Given the description of an element on the screen output the (x, y) to click on. 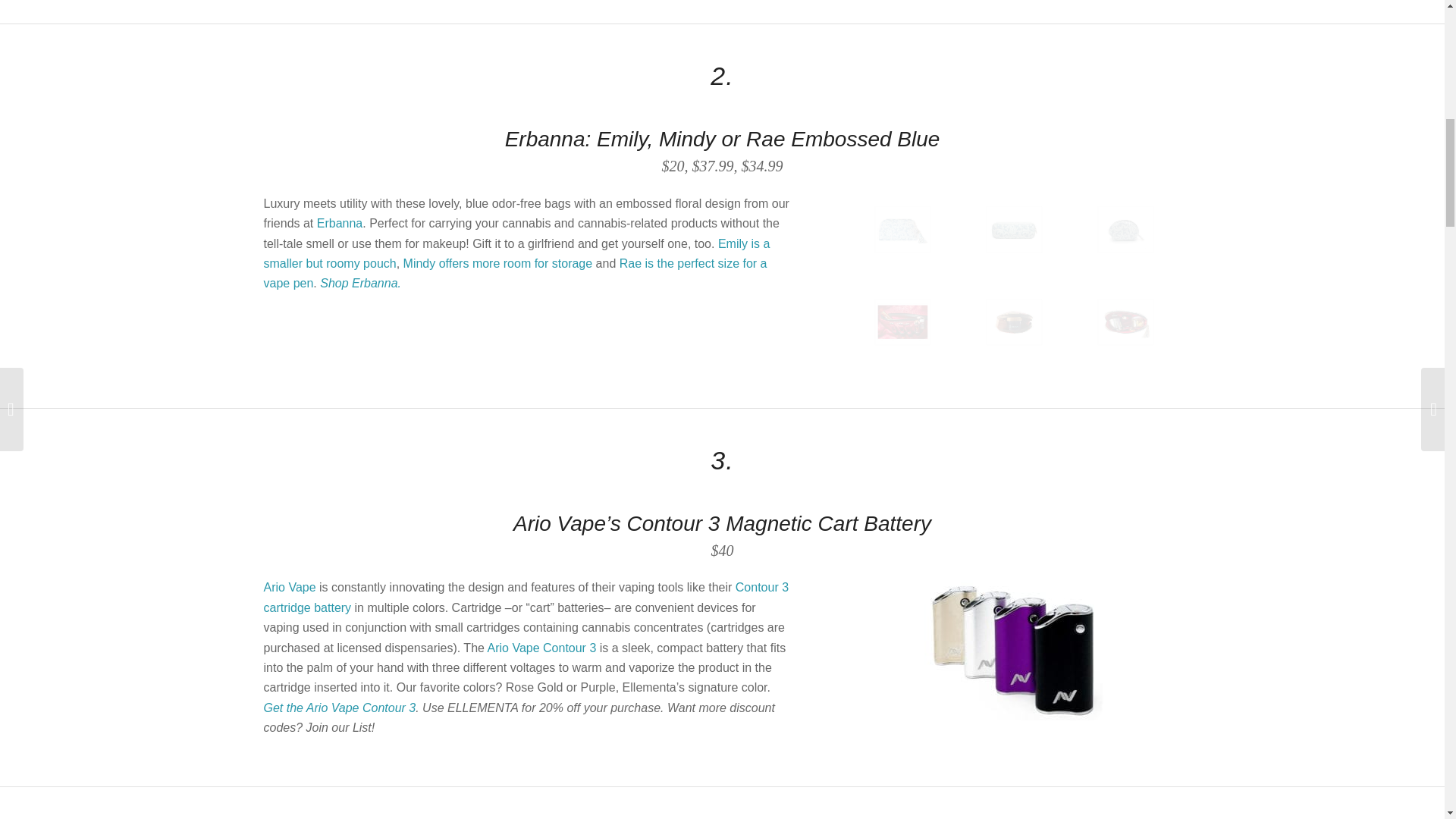
Rae is the perfect size for a vape pen (515, 273)
Shop Erbanna. (360, 282)
Erbanna: Emily, Mindy or Rae Embossed Blue (722, 138)
Mindy (902, 229)
Erbanna (339, 223)
Emily is a smaller but roomy pouch (516, 253)
Emily (1125, 229)
Ray (1014, 229)
ErbannaEmily (1152, 253)
ErbannaRae (1042, 253)
